Given the description of an element on the screen output the (x, y) to click on. 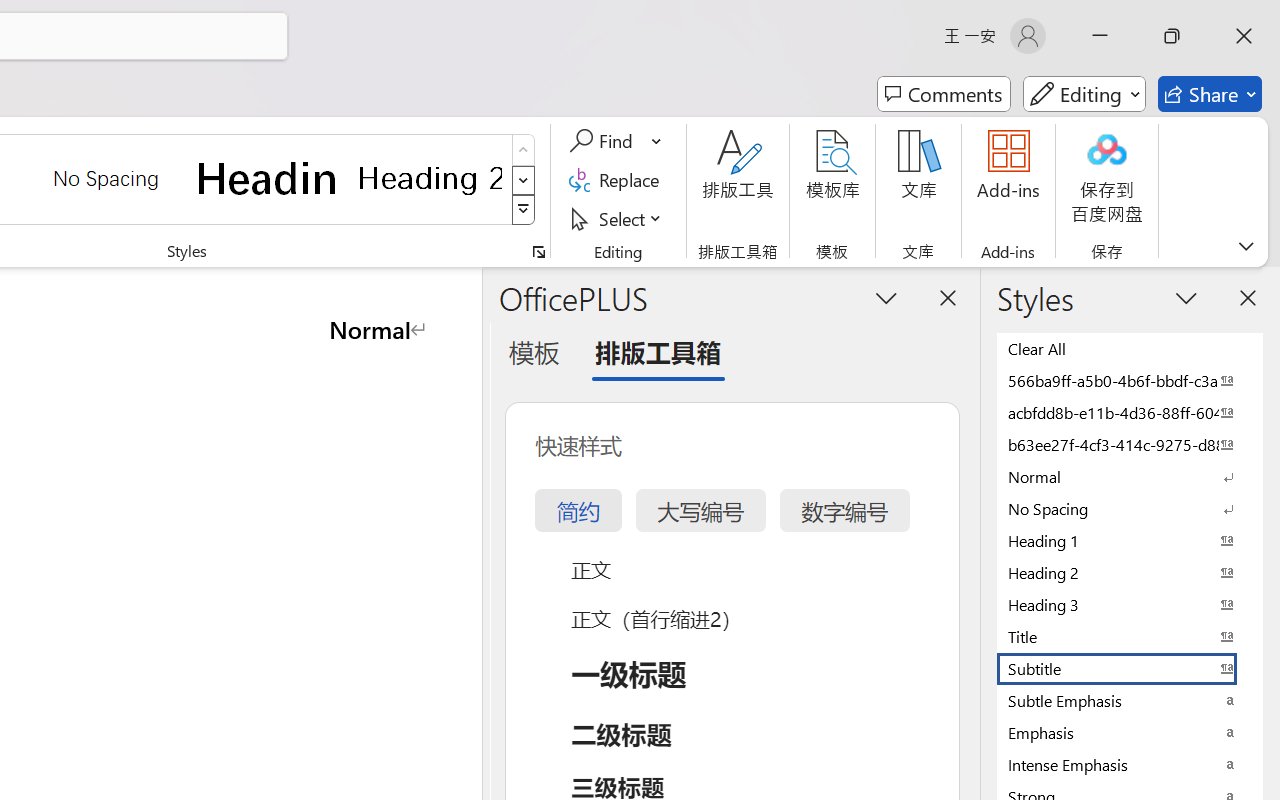
Styles (523, 209)
Row Down (523, 180)
